Given the description of an element on the screen output the (x, y) to click on. 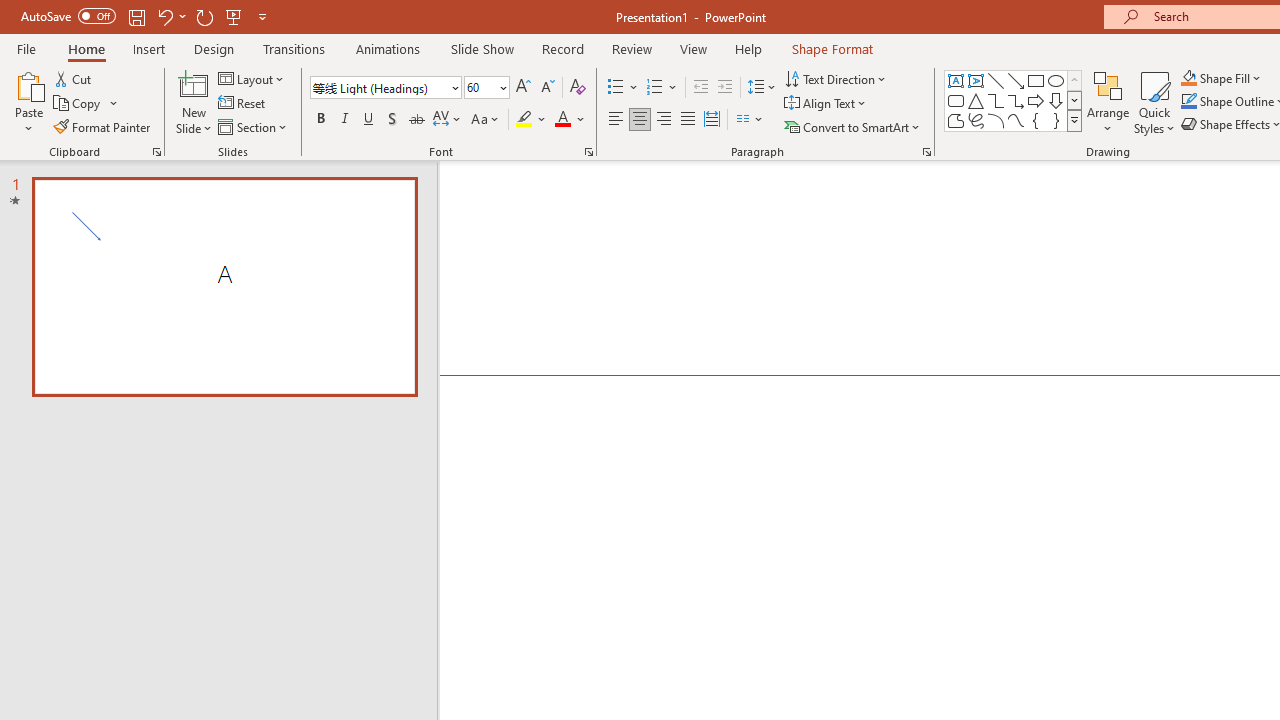
Slide A (224, 286)
